Given the description of an element on the screen output the (x, y) to click on. 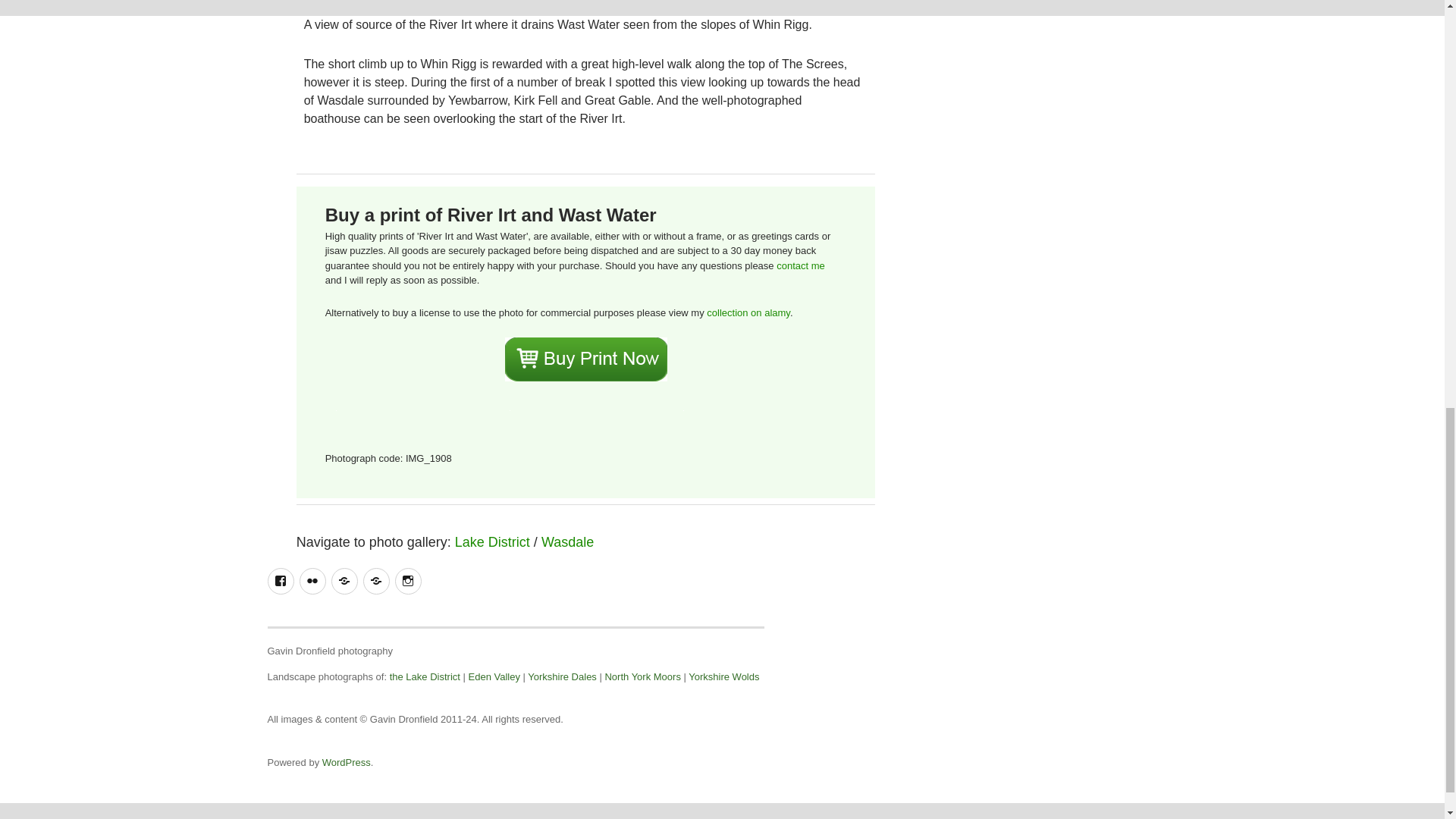
collection on alamy (748, 312)
contact me (800, 265)
Lake District (491, 541)
Wasdale (567, 541)
